Given the description of an element on the screen output the (x, y) to click on. 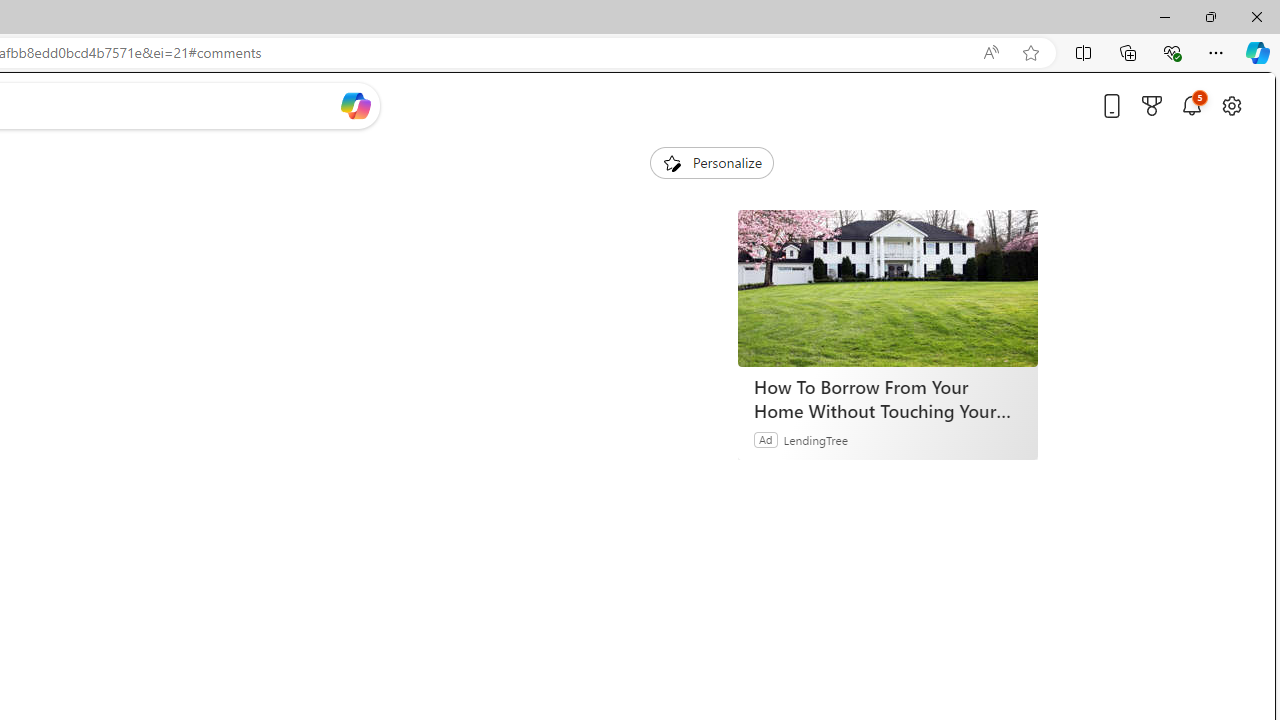
How To Borrow From Your Home Without Touching Your Mortgage (887, 399)
Personalize (711, 162)
